Given the description of an element on the screen output the (x, y) to click on. 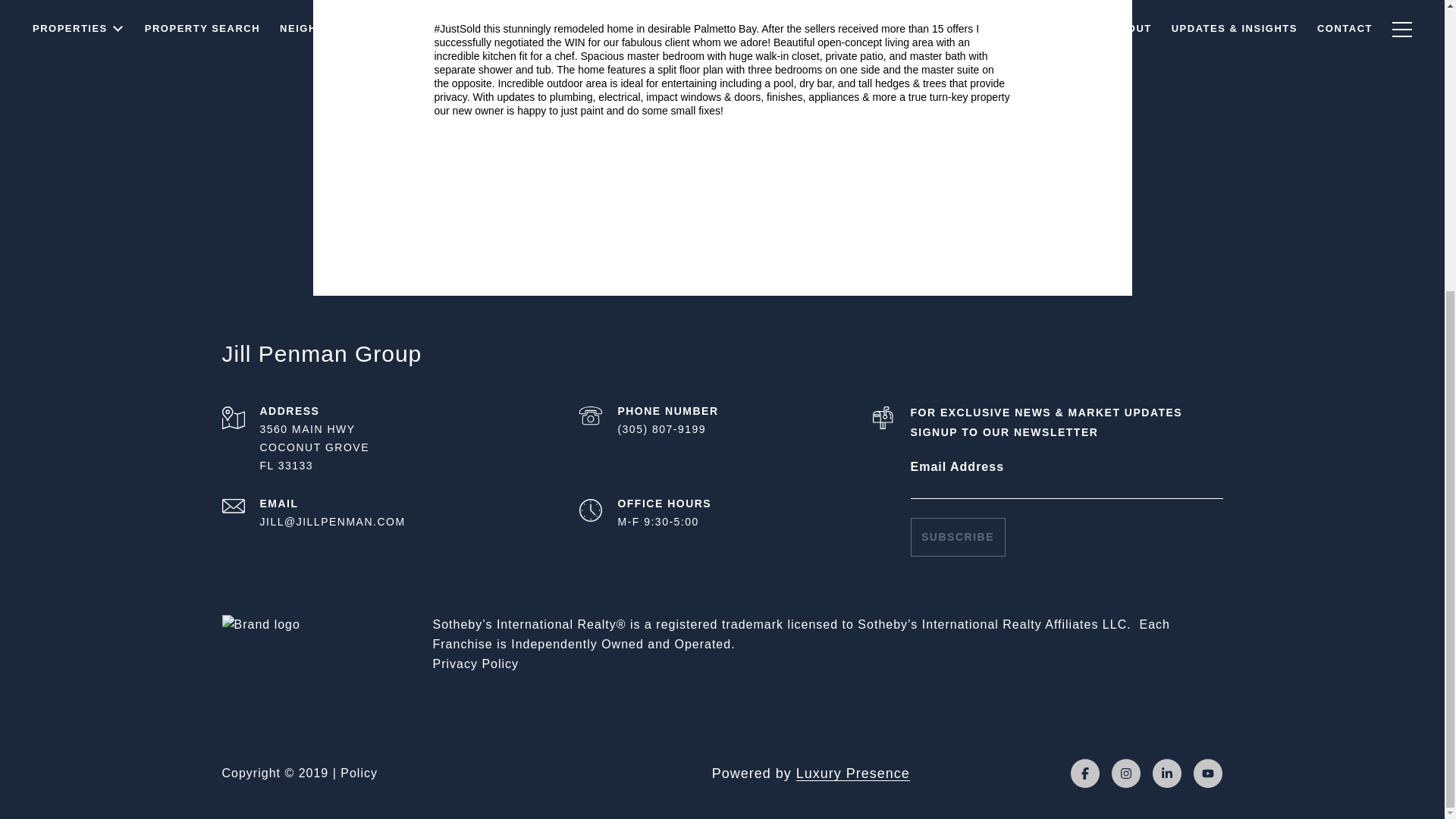
SUBSCRIBE (957, 536)
Policy (358, 772)
Privacy Policy (475, 663)
SUBSCRIBE (957, 536)
Luxury Presence (853, 773)
